Given the description of an element on the screen output the (x, y) to click on. 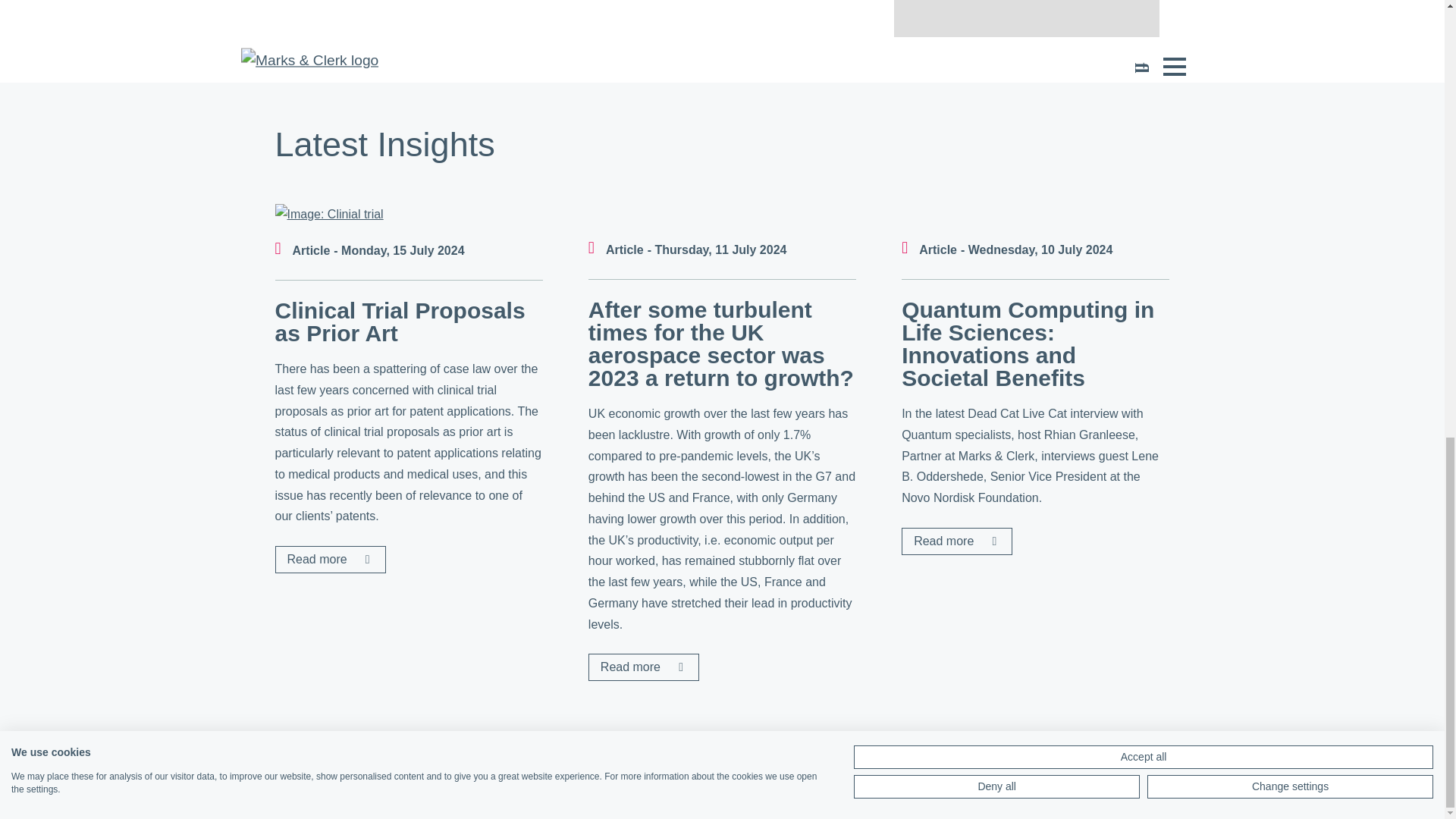
Clinical trial (328, 214)
